Given the description of an element on the screen output the (x, y) to click on. 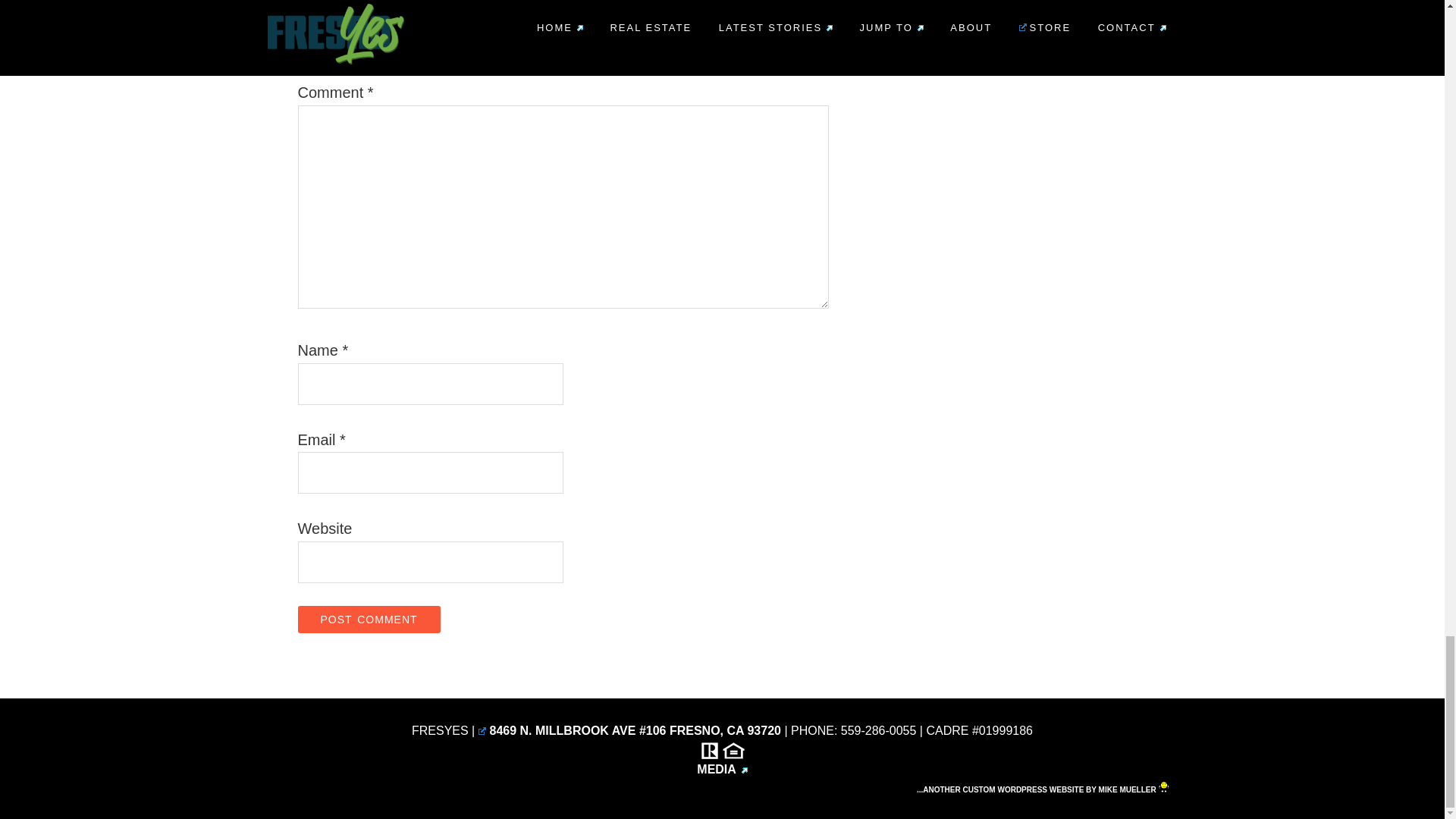
Post Comment (368, 619)
